Given the description of an element on the screen output the (x, y) to click on. 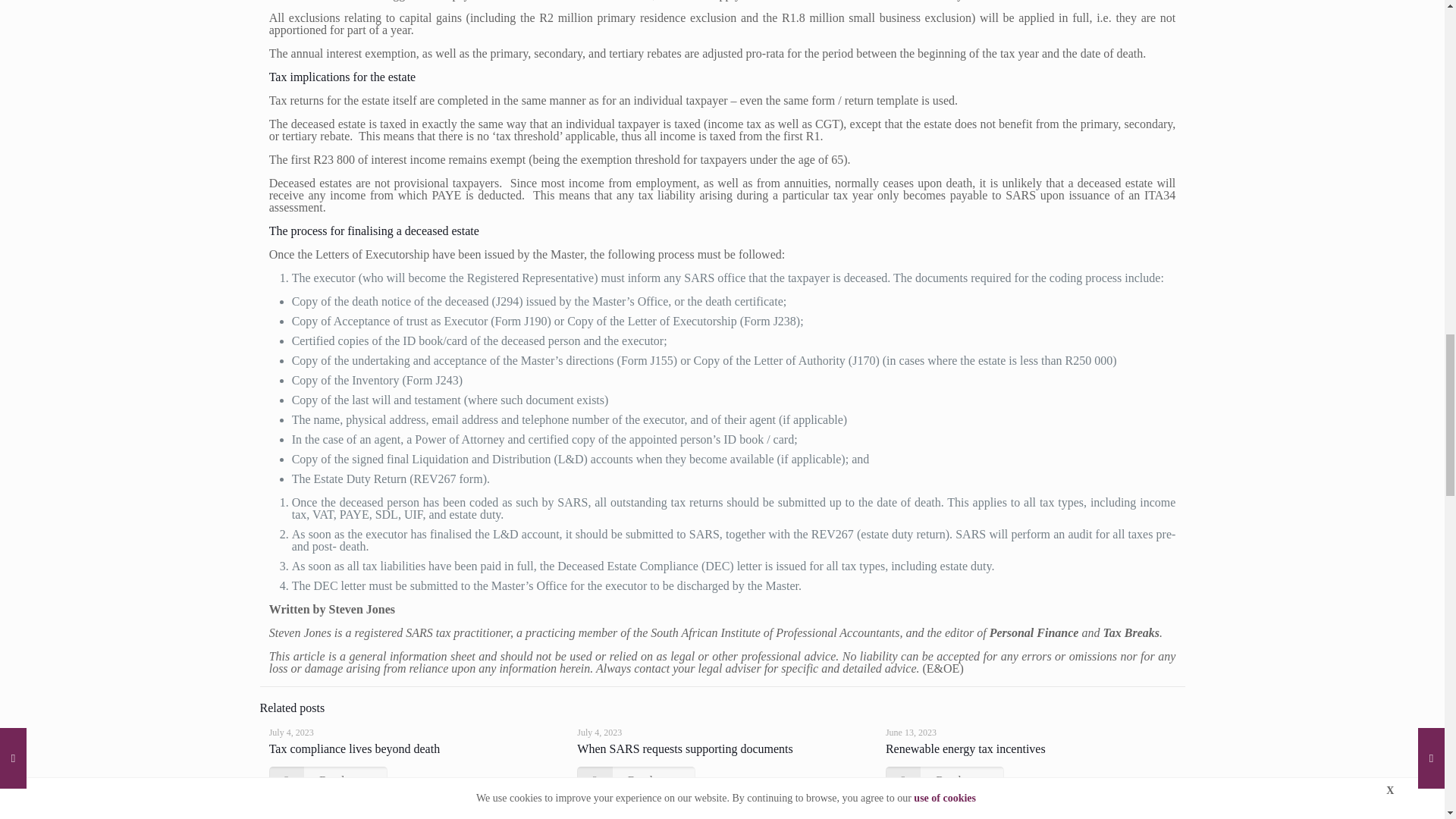
Read more (328, 780)
Renewable energy tax incentives (965, 748)
Tax compliance lives beyond death (354, 748)
Read more (944, 780)
When SARS requests supporting documents (684, 748)
Read more (635, 780)
